Given the description of an element on the screen output the (x, y) to click on. 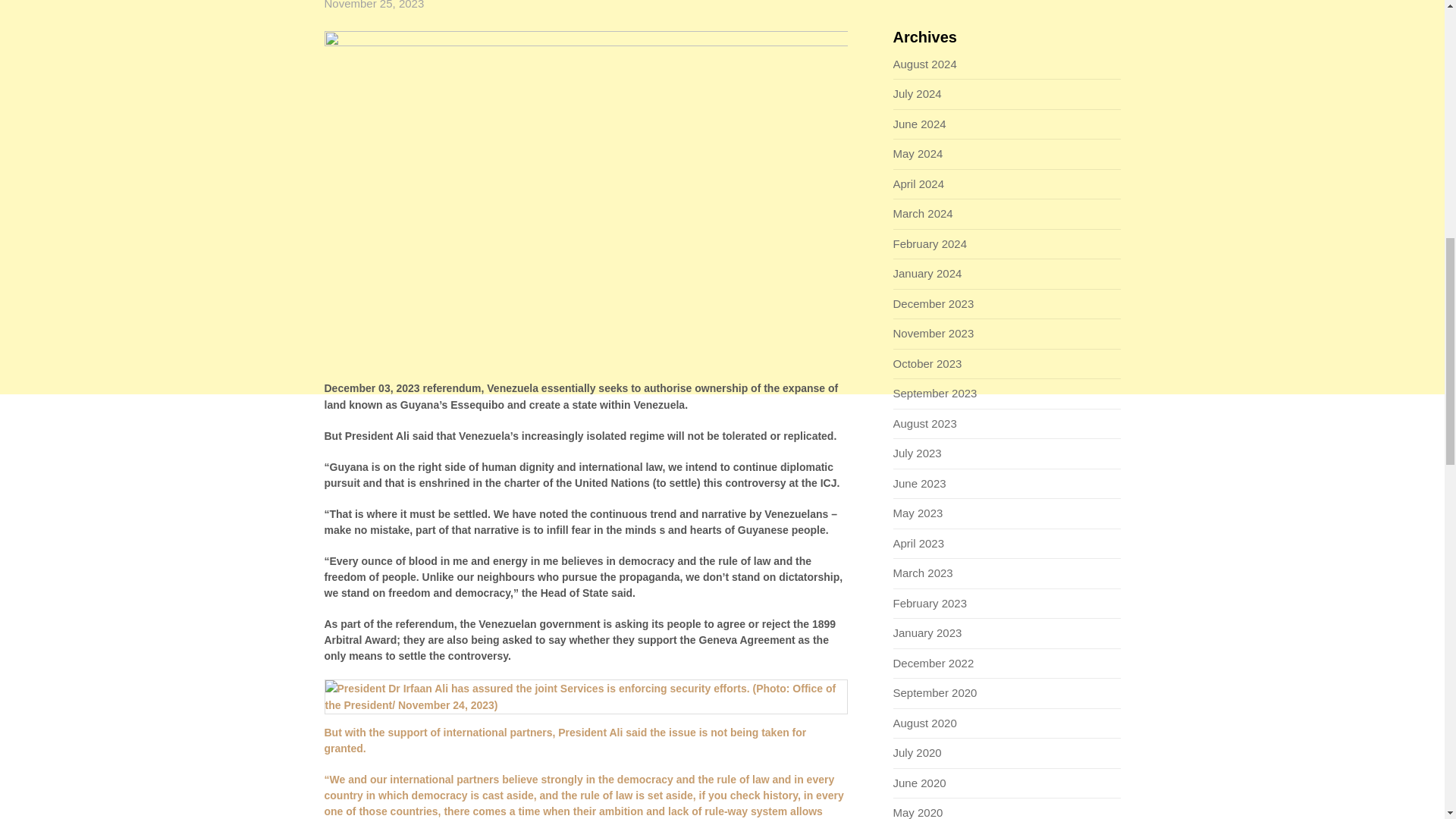
June 2024 (919, 123)
September 2023 (934, 392)
August 2023 (924, 422)
April 2024 (918, 183)
July 2023 (917, 452)
August 2024 (924, 63)
October 2023 (927, 363)
July 2024 (917, 92)
March 2024 (923, 213)
November 2023 (933, 332)
May 2024 (918, 153)
February 2024 (930, 243)
January 2024 (927, 273)
December 2023 (933, 303)
